Given the description of an element on the screen output the (x, y) to click on. 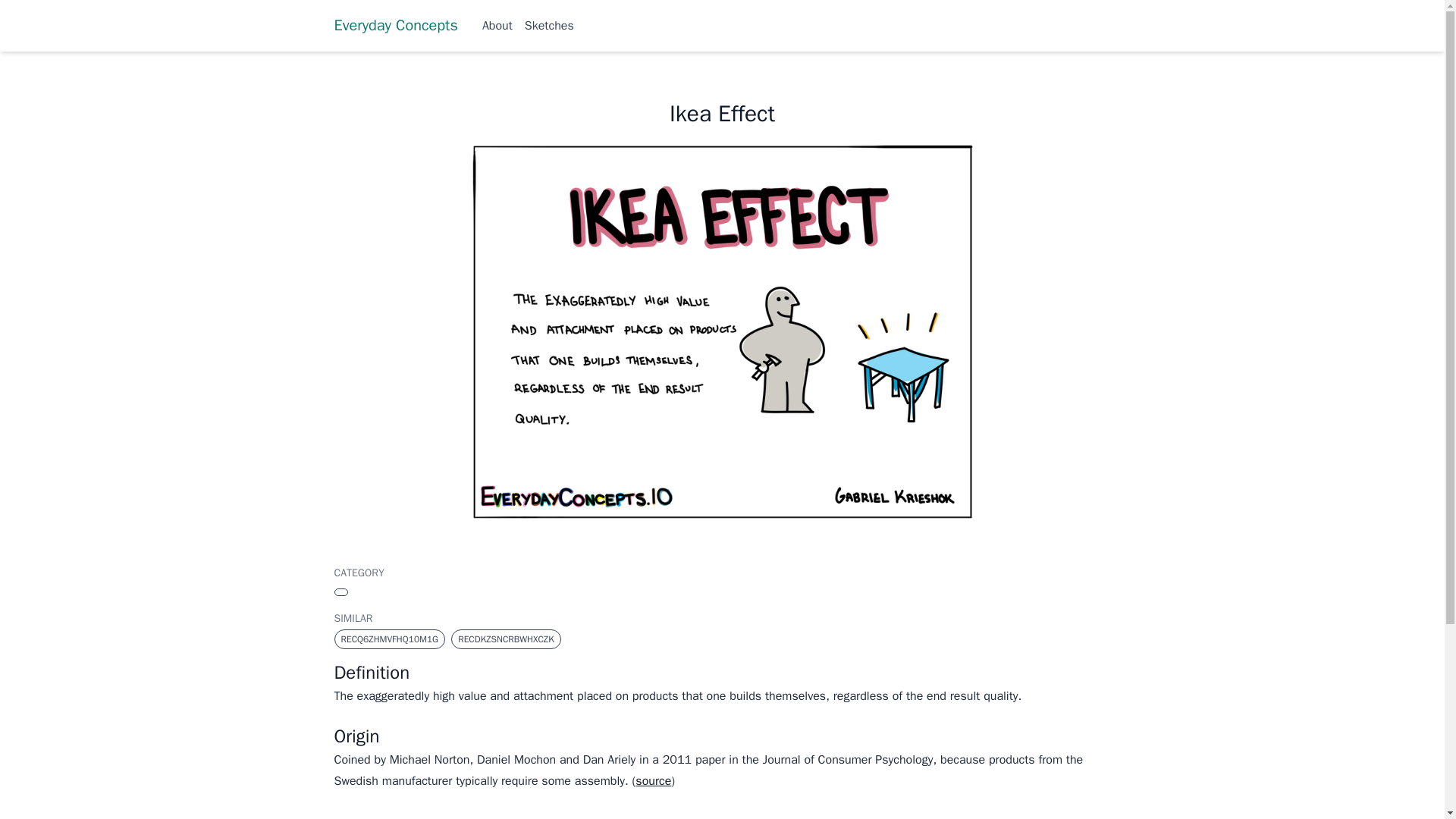
source (652, 780)
Sketches (548, 25)
About (496, 25)
Everyday Concepts (395, 25)
